Given the description of an element on the screen output the (x, y) to click on. 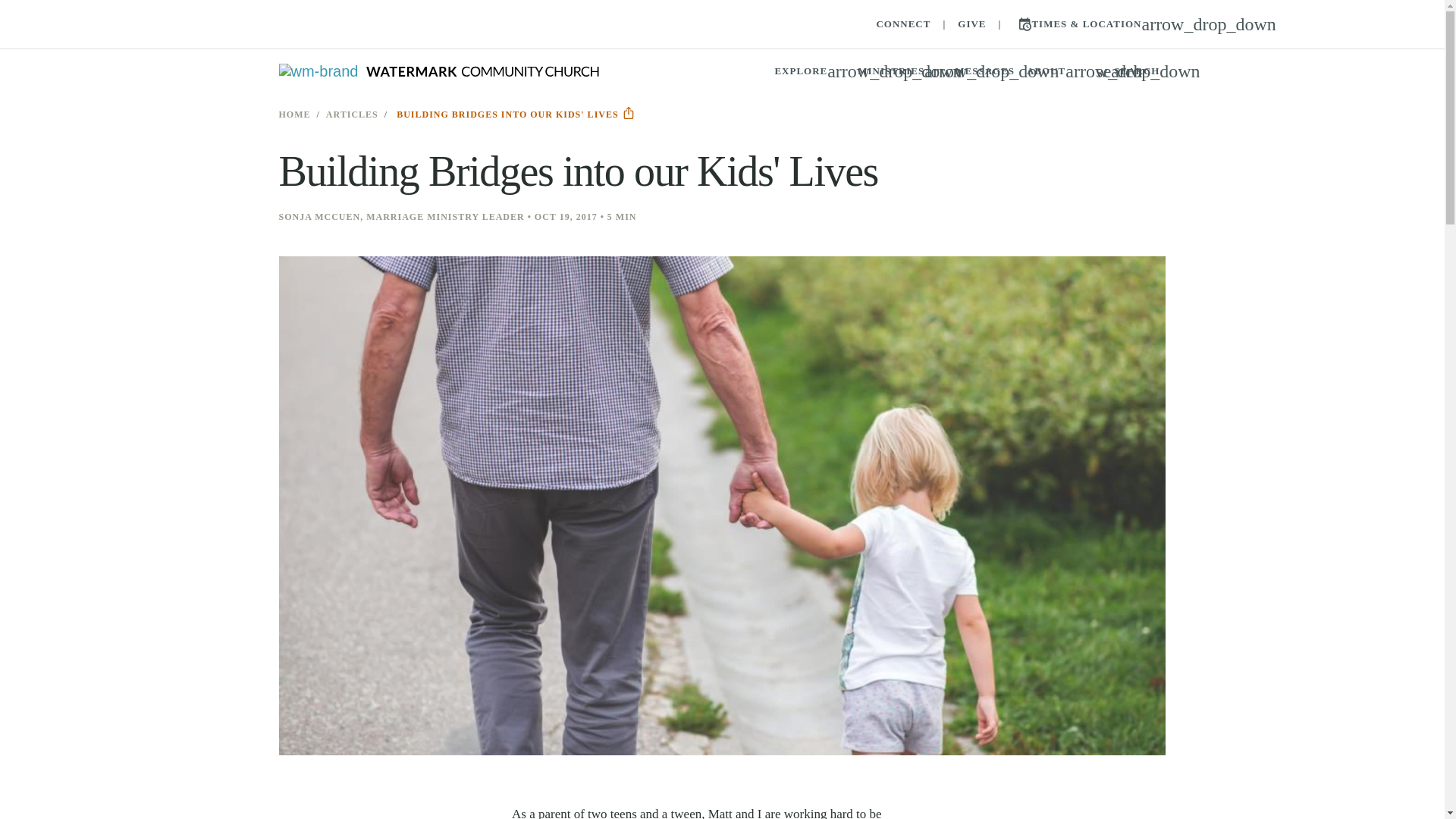
unselected-campus (529, 70)
unselected-campus (438, 70)
MESSAGES (1127, 71)
CONNECT (984, 71)
EXPLORE (902, 23)
MINISTRIES (809, 71)
ABOUT (900, 71)
GIVE (1054, 71)
